Given the description of an element on the screen output the (x, y) to click on. 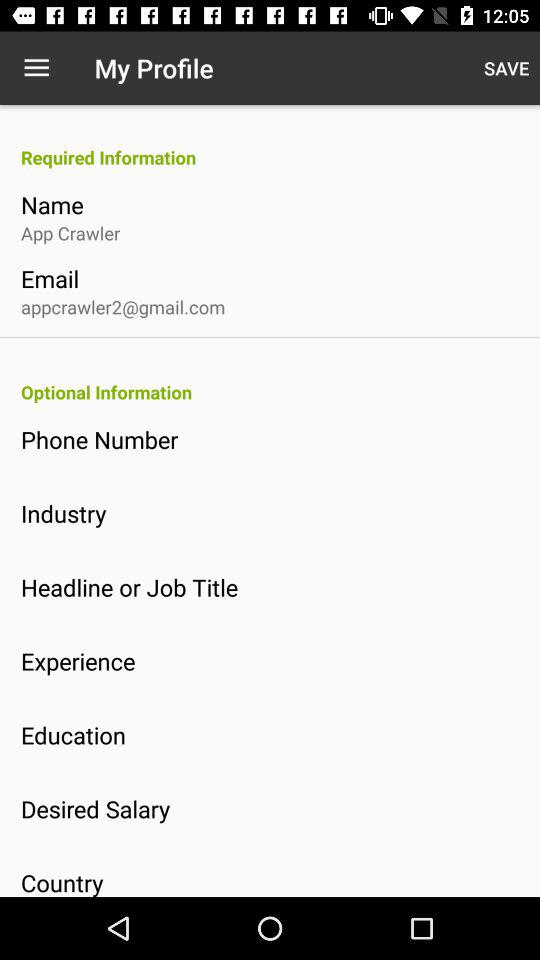
choose the icon above the name icon (280, 157)
